Given the description of an element on the screen output the (x, y) to click on. 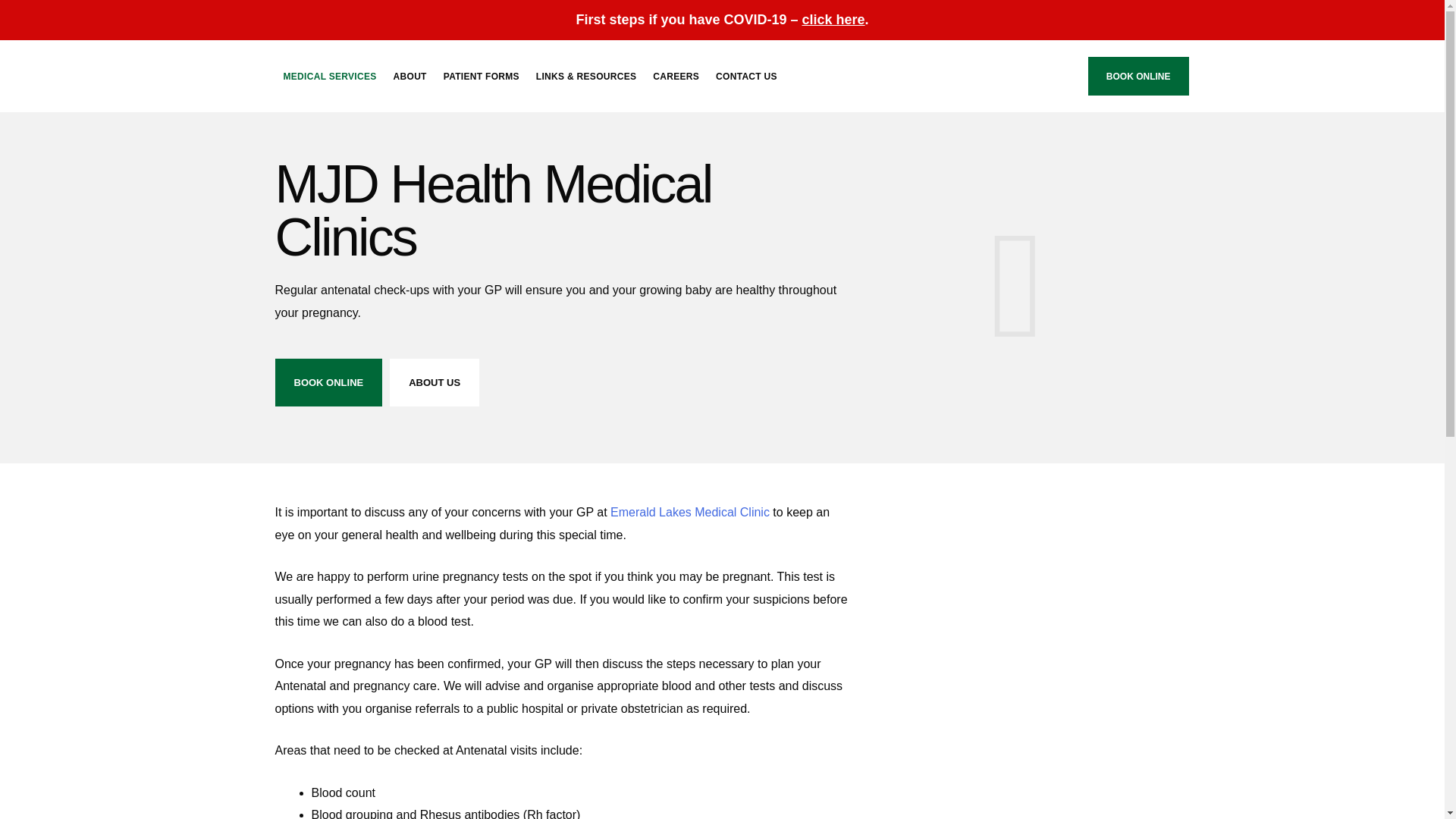
Emerald Lakes Medical Clinic (690, 512)
ABOUT (410, 76)
click here (833, 19)
ABOUT US (434, 382)
MEDICAL SERVICES (329, 76)
PATIENT FORMS (481, 76)
CAREERS (676, 76)
BOOK ONLINE (1138, 75)
BOOK ONLINE (328, 382)
CONTACT US (746, 76)
